Given the description of an element on the screen output the (x, y) to click on. 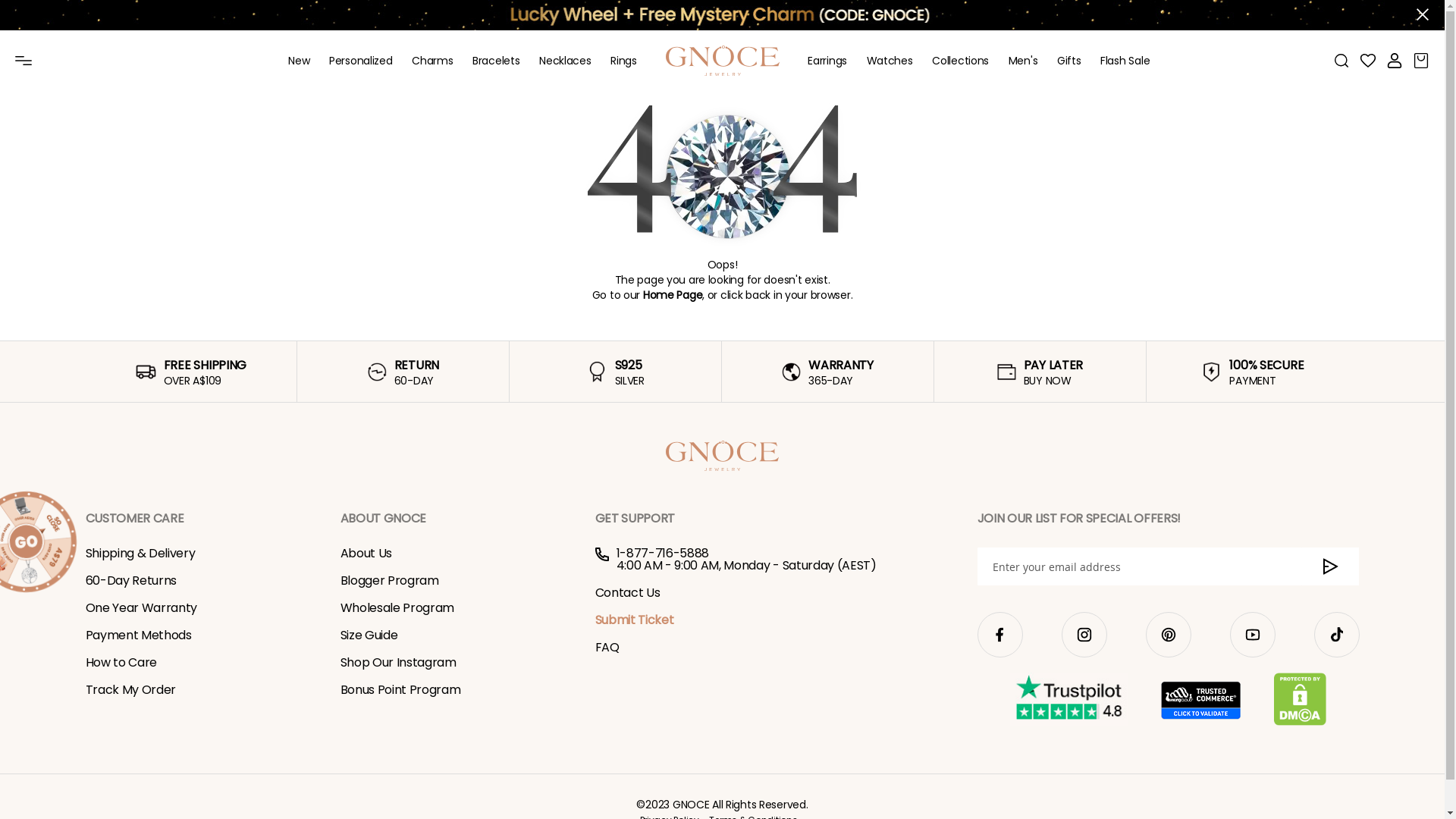
Wholesale Program Element type: text (396, 607)
About Us Element type: text (365, 552)
Watches Element type: text (889, 60)
Track My Order Element type: text (129, 689)
Home Page Element type: text (672, 294)
Payment Methods Element type: text (137, 634)
Earrings Element type: text (827, 60)
Contact Us Element type: text (626, 592)
How to Care Element type: text (120, 662)
DMCA.com Protection Status Element type: hover (1300, 700)
1-877-716-5888
4:00 AM - 9:00 AM, Monday - Saturday (AEST) Element type: text (766, 559)
60-Day Returns Element type: text (130, 580)
Bracelets Element type: text (495, 60)
Gifts Element type: text (1069, 60)
FAQ Element type: text (606, 646)
Flash Sale Element type: text (1124, 60)
Men's Element type: text (1023, 60)
New Element type: text (298, 60)
Blogger Program Element type: text (388, 580)
Rings Element type: text (623, 60)
Size Guide Element type: text (368, 634)
Submit Ticket Element type: text (633, 619)
Necklaces Element type: text (564, 60)
One Year Warranty Element type: text (140, 607)
Charms Element type: text (431, 60)
Shipping & Delivery Element type: text (139, 552)
Shop Our Instagram Element type: text (397, 662)
Bonus Point Program Element type: text (399, 689)
Personalized Element type: text (360, 60)
Collections Element type: text (959, 60)
